Given the description of an element on the screen output the (x, y) to click on. 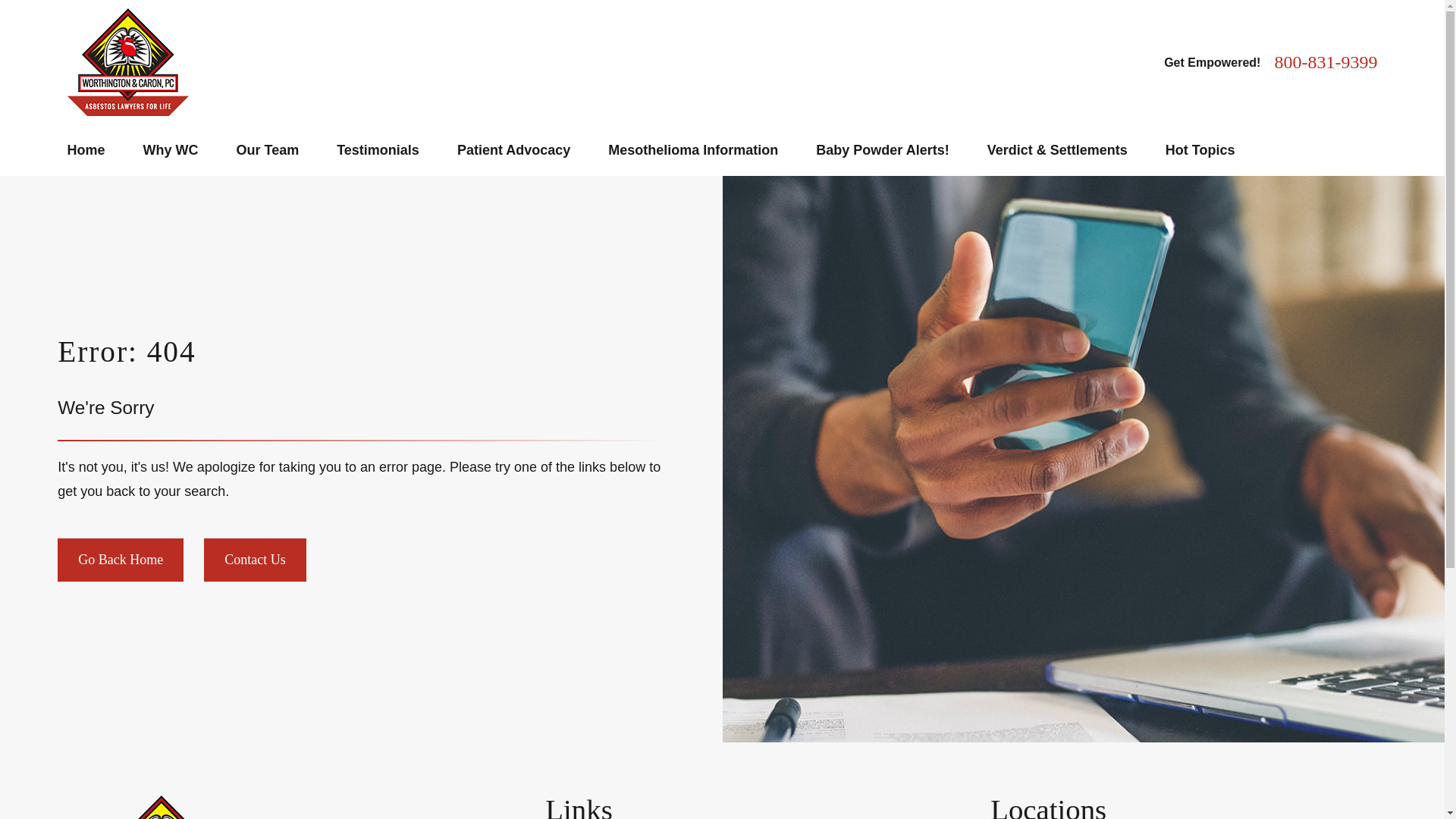
Home (126, 62)
800-831-9399 (1325, 62)
Home (276, 807)
Home (85, 150)
Why WC (170, 150)
Patient Advocacy (513, 150)
Our Team (267, 150)
Mesothelioma Information (692, 150)
Testimonials (377, 150)
